Given the description of an element on the screen output the (x, y) to click on. 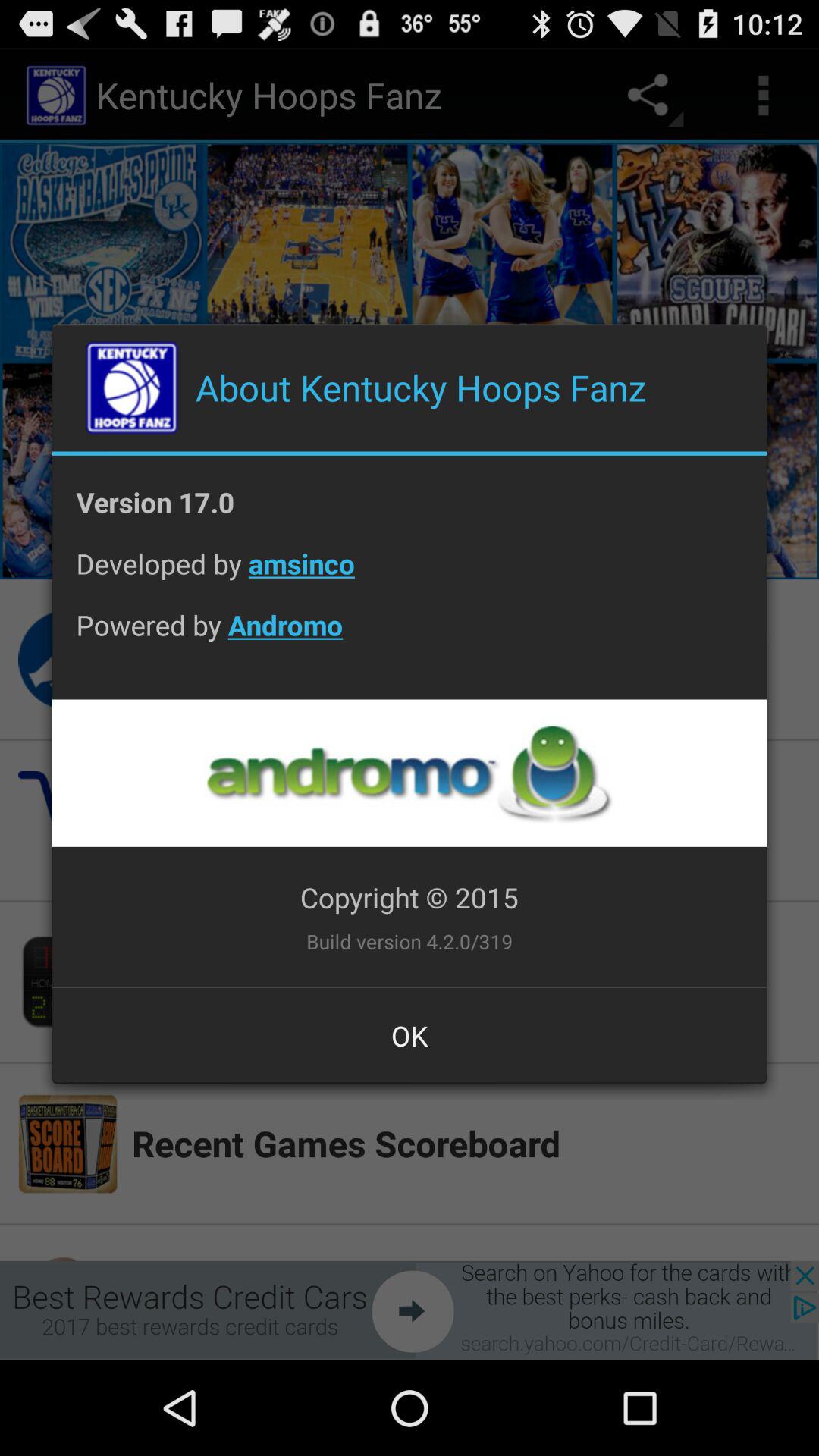
jump to developed by amsinco icon (409, 575)
